Given the description of an element on the screen output the (x, y) to click on. 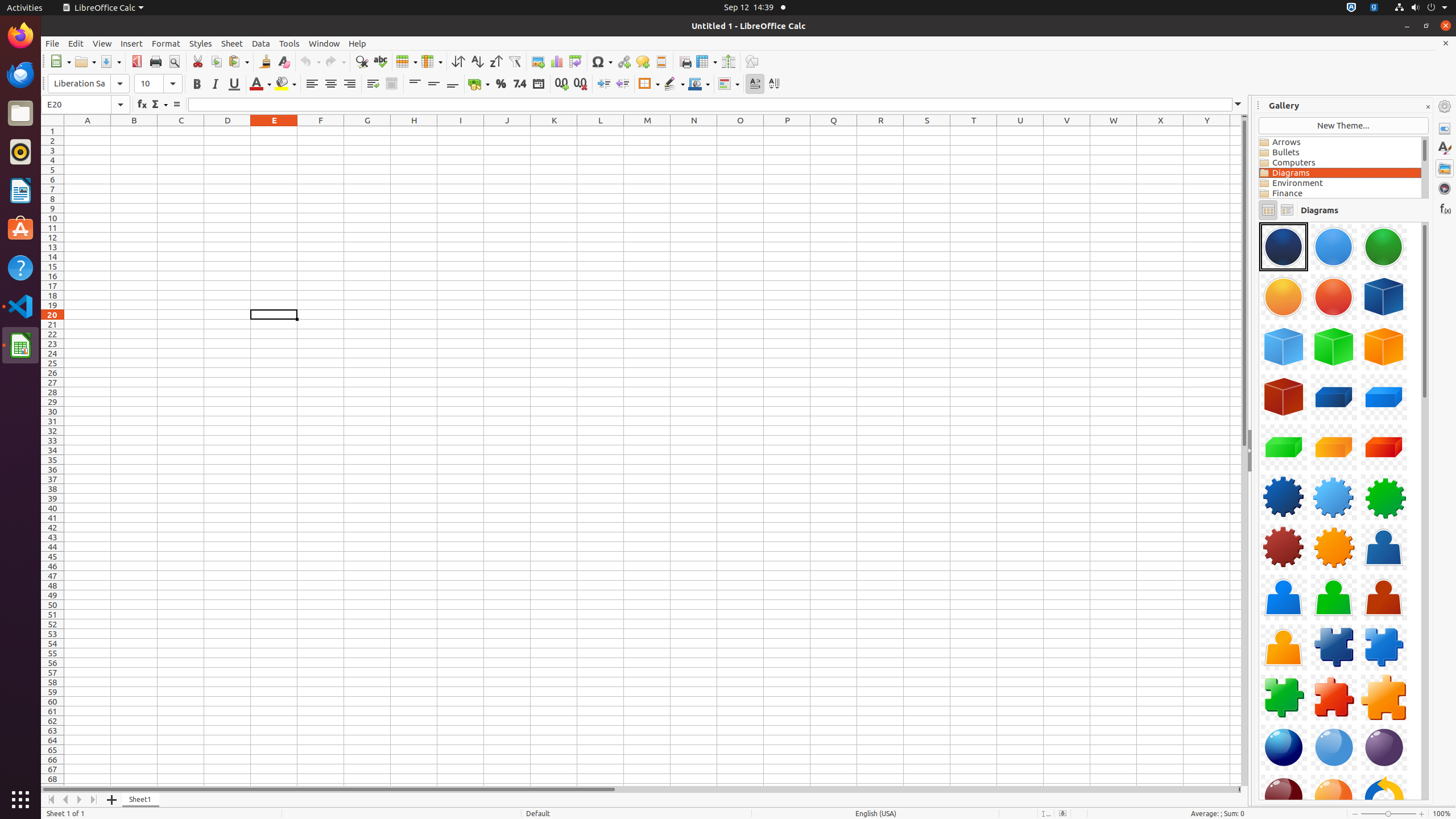
Insert Element type: menu (131, 43)
Component-Circle05-Transparent-Red Element type: list-item (1333, 296)
Environment Element type: list-item (1340, 183)
Show Applications Element type: toggle-button (20, 799)
Align Right Element type: push-button (349, 83)
